Given the description of an element on the screen output the (x, y) to click on. 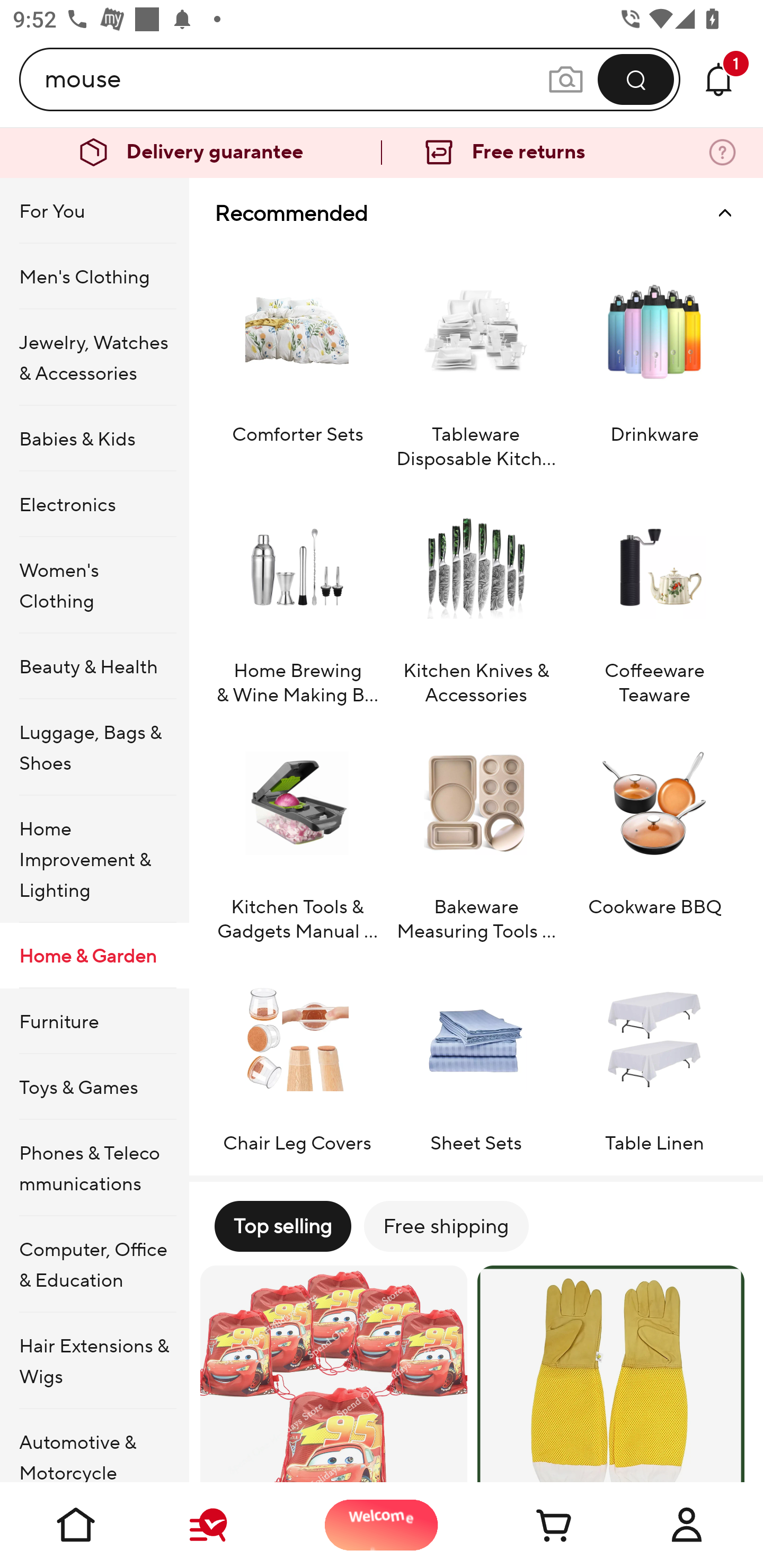
mouse Search query (295, 79)
Messages 1 (718, 79)
Delivery guarantee Free returns (381, 152)
For You (94, 210)
Recommended  (476, 212)
Men's Clothing (94, 275)
Comforter Sets (296, 359)
Drinkware (654, 359)
Jewelry, Watches & Accessories (94, 357)
Babies & Kids (94, 438)
Electronics (94, 504)
Home Brewing & Wine Making Barware (296, 596)
Kitchen Knives & Accessories (475, 596)
Coffeeware Teaware (654, 596)
Women's Clothing (94, 585)
Beauty & Health (94, 666)
Luggage, Bags & Shoes (94, 746)
Kitchen Tools & Gadgets Manual Food Processors (296, 832)
Bakeware Measuring Tools & Scales (475, 832)
Cookware BBQ (654, 832)
Home Improvement & Lighting (94, 858)
Home & Garden (94, 955)
Chair Leg Covers (296, 1056)
Sheet Sets (475, 1056)
Table Linen (654, 1056)
Furniture (94, 1020)
Toys & Games (94, 1086)
Phones & Telecommunications (94, 1167)
Top selling (282, 1226)
Free shipping (445, 1226)
Computer, Office & Education (94, 1264)
Hair Extensions & Wigs (94, 1360)
Automotive & Motorcycle (94, 1445)
Home (76, 1524)
Cart (533, 1524)
Account (686, 1524)
